Given the description of an element on the screen output the (x, y) to click on. 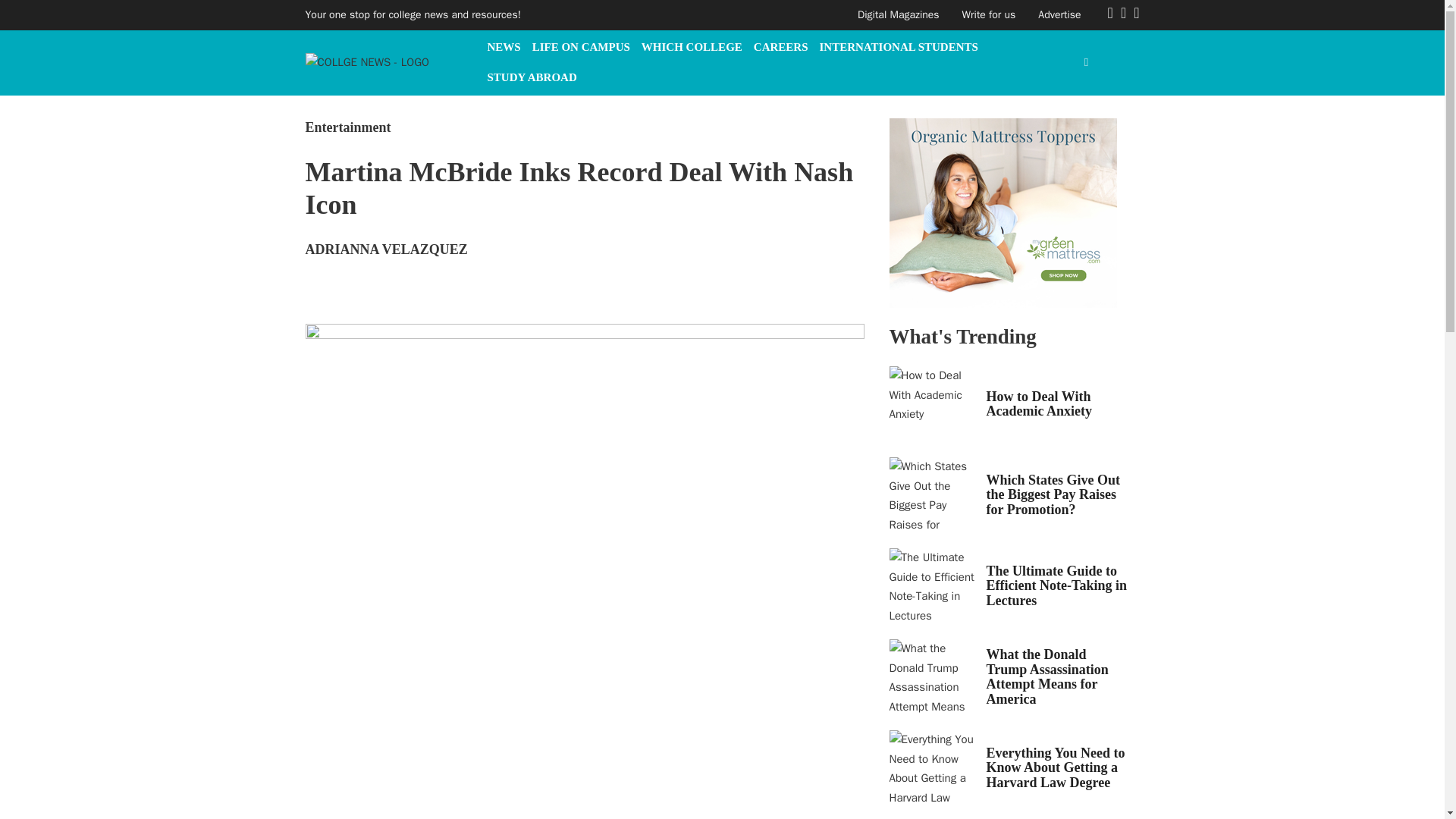
NEWS (502, 47)
Advertise (1059, 14)
Write for us (989, 14)
Digital Magazines (898, 14)
